Given the description of an element on the screen output the (x, y) to click on. 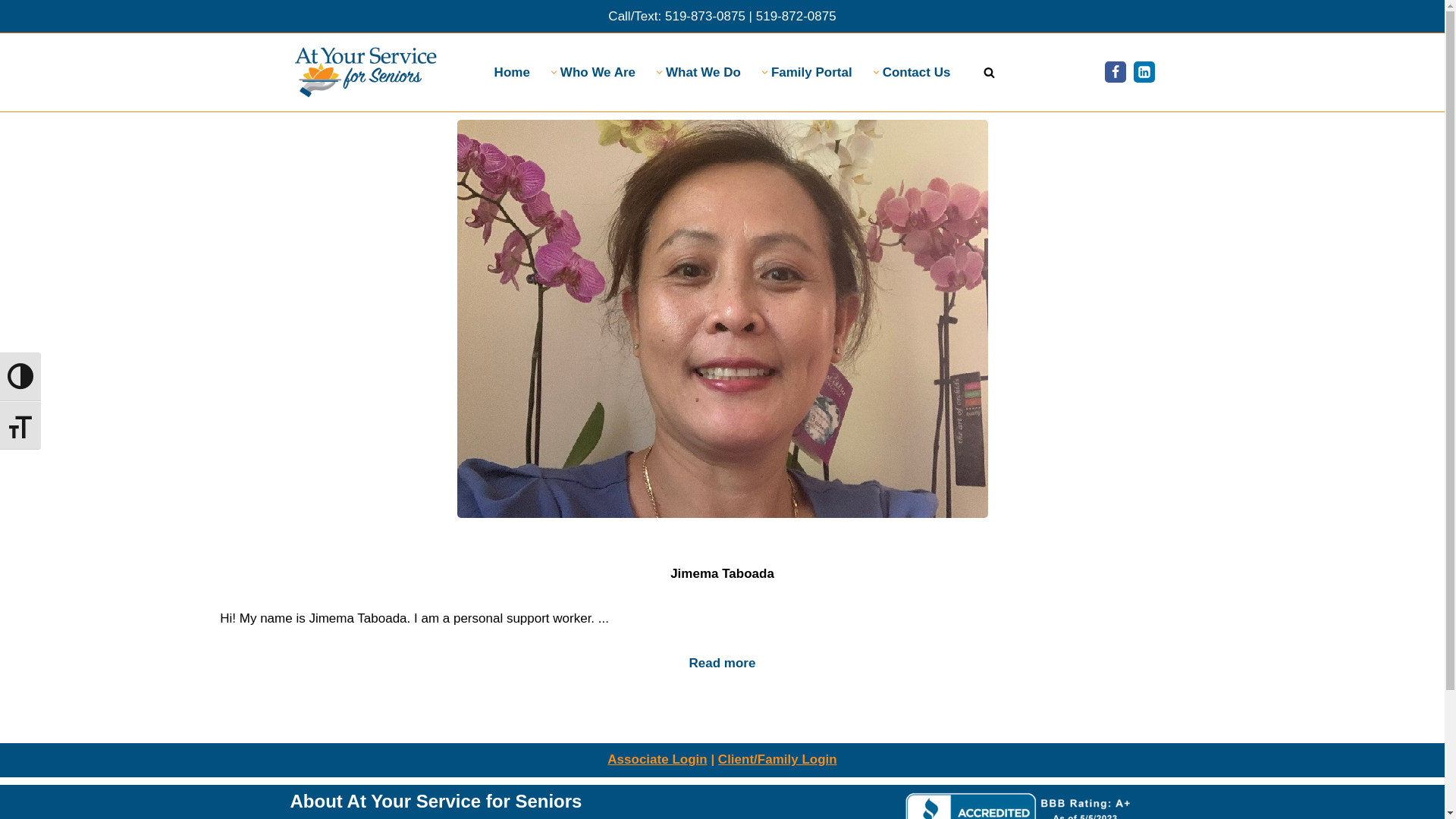
Toggle High Contrast Element type: text (20, 375)
Skip to content Element type: text (11, 31)
Home Element type: text (512, 71)
Read more Element type: text (721, 663)
Family Portal Element type: text (811, 71)
Who We Are Element type: text (597, 71)
Client/Family Login Element type: text (777, 759)
Toggle Font size Element type: text (20, 425)
Associate Login Element type: text (656, 759)
519-873-0875 Element type: text (705, 16)
519-872-0875 Element type: text (796, 16)
What We Do Element type: text (702, 71)
Contact Us Element type: text (916, 71)
